Given the description of an element on the screen output the (x, y) to click on. 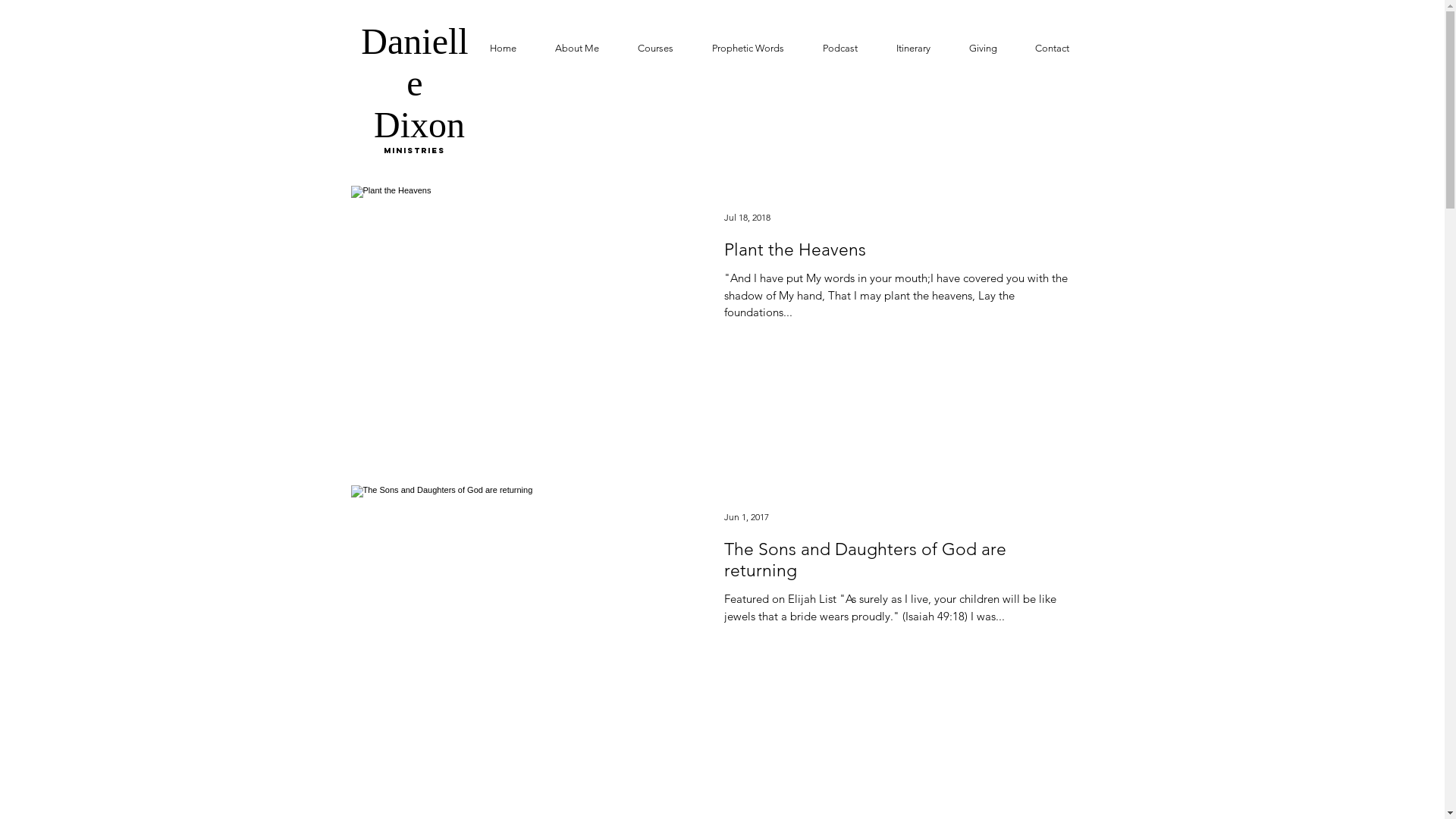
Home Element type: text (502, 48)
Podcast Element type: text (840, 48)
The Sons and Daughters of God are returning Element type: text (899, 564)
Prophetic Words Element type: text (748, 48)
Itinerary Element type: text (912, 48)
About Me Element type: text (576, 48)
Plant the Heavens Element type: text (899, 253)
Danielle  Dixon Element type: text (413, 82)
Courses Element type: text (655, 48)
Giving Element type: text (982, 48)
Contact Element type: text (1052, 48)
